Given the description of an element on the screen output the (x, y) to click on. 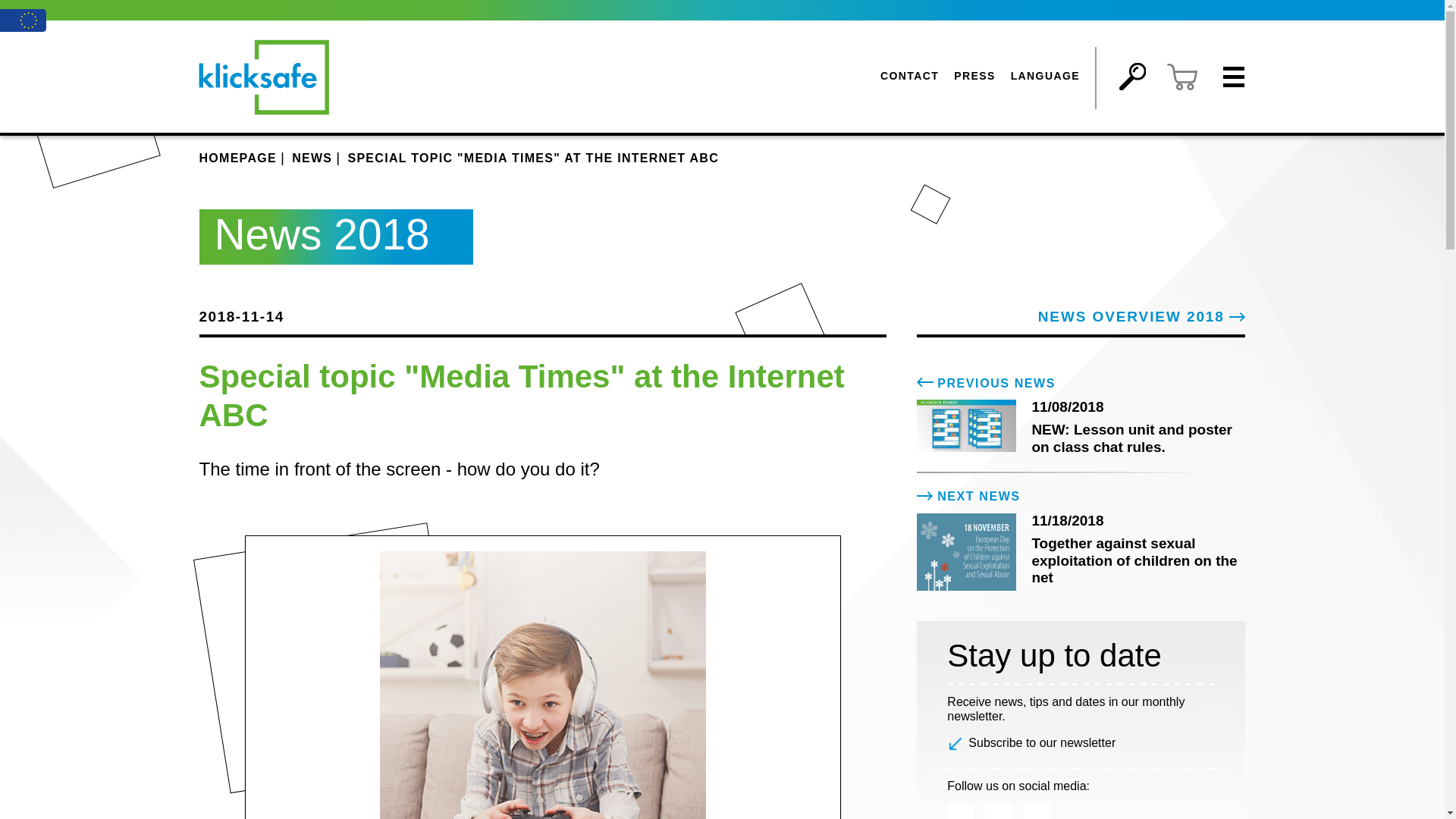
CONTACT (909, 76)
Together against sexual exploitation of children on the net (966, 551)
NEW: Lesson unit and poster on class chat rules. (966, 425)
PRESS (974, 76)
